Given the description of an element on the screen output the (x, y) to click on. 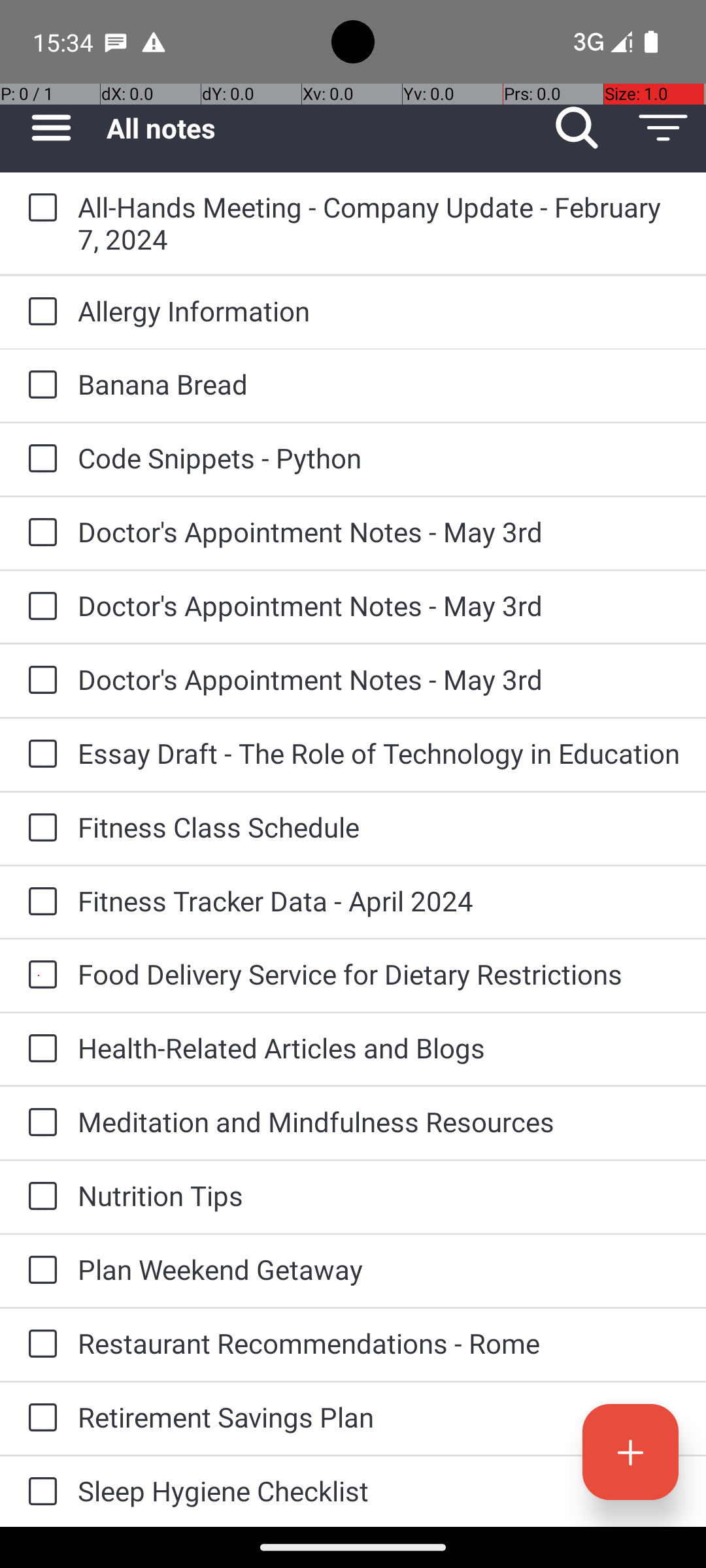
Sidebar Element type: android.widget.Button (44, 127)
All notes Element type: android.widget.TextView (320, 127)
Sort notes by Element type: android.widget.Button (663, 127)
Add new, collapsed Element type: android.widget.Button (630, 1452)
 Element type: android.widget.TextView (51, 127)
 Element type: android.widget.TextView (576, 127)
 Element type: android.widget.TextView (663, 127)
 Element type: android.widget.TextView (630, 1451)
to-do: All-Hands Meeting - Company Update - February 7, 2024 Element type: android.widget.CheckBox (38, 208)
All-Hands Meeting - Company Update - February 7, 2024 Element type: android.widget.TextView (378, 222)
to-do: Allergy Information Element type: android.widget.CheckBox (38, 312)
Allergy Information Element type: android.widget.TextView (378, 310)
to-do: Banana Bread Element type: android.widget.CheckBox (38, 385)
Banana Bread Element type: android.widget.TextView (378, 383)
to-do: Code Snippets - Python Element type: android.widget.CheckBox (38, 459)
Code Snippets - Python Element type: android.widget.TextView (378, 457)
to-do: Doctor's Appointment Notes - May 3rd Element type: android.widget.CheckBox (38, 533)
Doctor's Appointment Notes - May 3rd Element type: android.widget.TextView (378, 531)
to-do: Essay Draft - The Role of Technology in Education Element type: android.widget.CheckBox (38, 754)
Essay Draft - The Role of Technology in Education Element type: android.widget.TextView (378, 752)
to-do: Fitness Class Schedule Element type: android.widget.CheckBox (38, 828)
Fitness Class Schedule Element type: android.widget.TextView (378, 826)
to-do: Fitness Tracker Data - April 2024 Element type: android.widget.CheckBox (38, 902)
Fitness Tracker Data - April 2024 Element type: android.widget.TextView (378, 900)
to-do: Food Delivery Service for Dietary Restrictions Element type: android.widget.CheckBox (38, 975)
Food Delivery Service for Dietary Restrictions Element type: android.widget.TextView (378, 973)
to-do: Health-Related Articles and Blogs Element type: android.widget.CheckBox (38, 1049)
Health-Related Articles and Blogs Element type: android.widget.TextView (378, 1047)
to-do: Meditation and Mindfulness Resources Element type: android.widget.CheckBox (38, 1123)
Meditation and Mindfulness Resources Element type: android.widget.TextView (378, 1121)
to-do: Nutrition Tips Element type: android.widget.CheckBox (38, 1196)
Nutrition Tips Element type: android.widget.TextView (378, 1194)
to-do: Plan Weekend Getaway Element type: android.widget.CheckBox (38, 1270)
Plan Weekend Getaway Element type: android.widget.TextView (378, 1268)
to-do: Restaurant Recommendations - Rome Element type: android.widget.CheckBox (38, 1344)
Restaurant Recommendations - Rome Element type: android.widget.TextView (378, 1342)
to-do: Retirement Savings Plan Element type: android.widget.CheckBox (38, 1418)
Retirement Savings Plan Element type: android.widget.TextView (378, 1416)
to-do: Sleep Hygiene Checklist Element type: android.widget.CheckBox (38, 1491)
Sleep Hygiene Checklist Element type: android.widget.TextView (378, 1490)
